Given the description of an element on the screen output the (x, y) to click on. 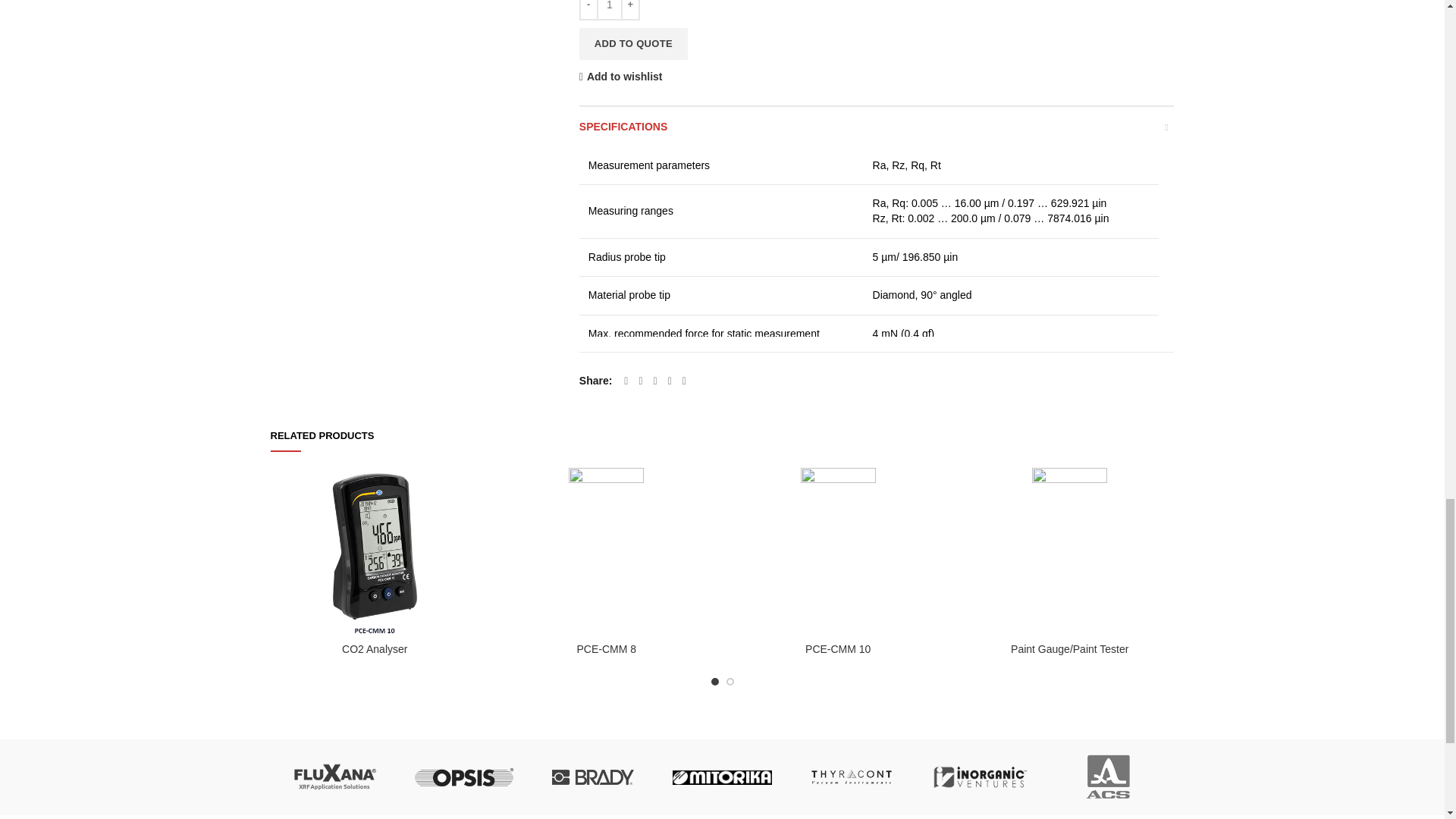
1 (609, 10)
- (588, 10)
Mitorika Co., Ltd. (721, 776)
Brady Corporation (592, 777)
Fluxana XRF Solutions (334, 777)
Qty (609, 10)
OPSIS AB (463, 777)
